Given the description of an element on the screen output the (x, y) to click on. 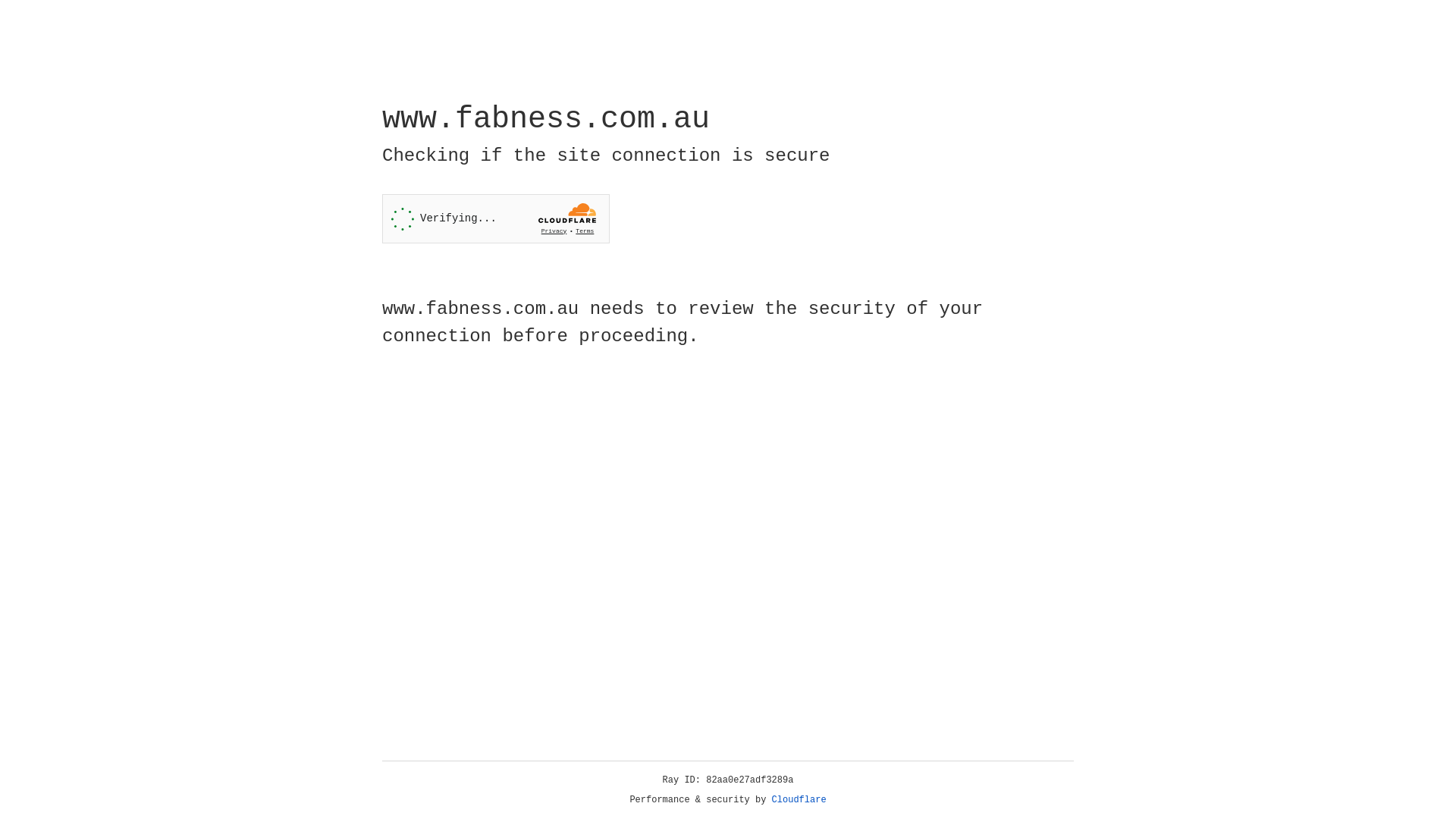
Cloudflare Element type: text (798, 799)
Widget containing a Cloudflare security challenge Element type: hover (495, 218)
